Given the description of an element on the screen output the (x, y) to click on. 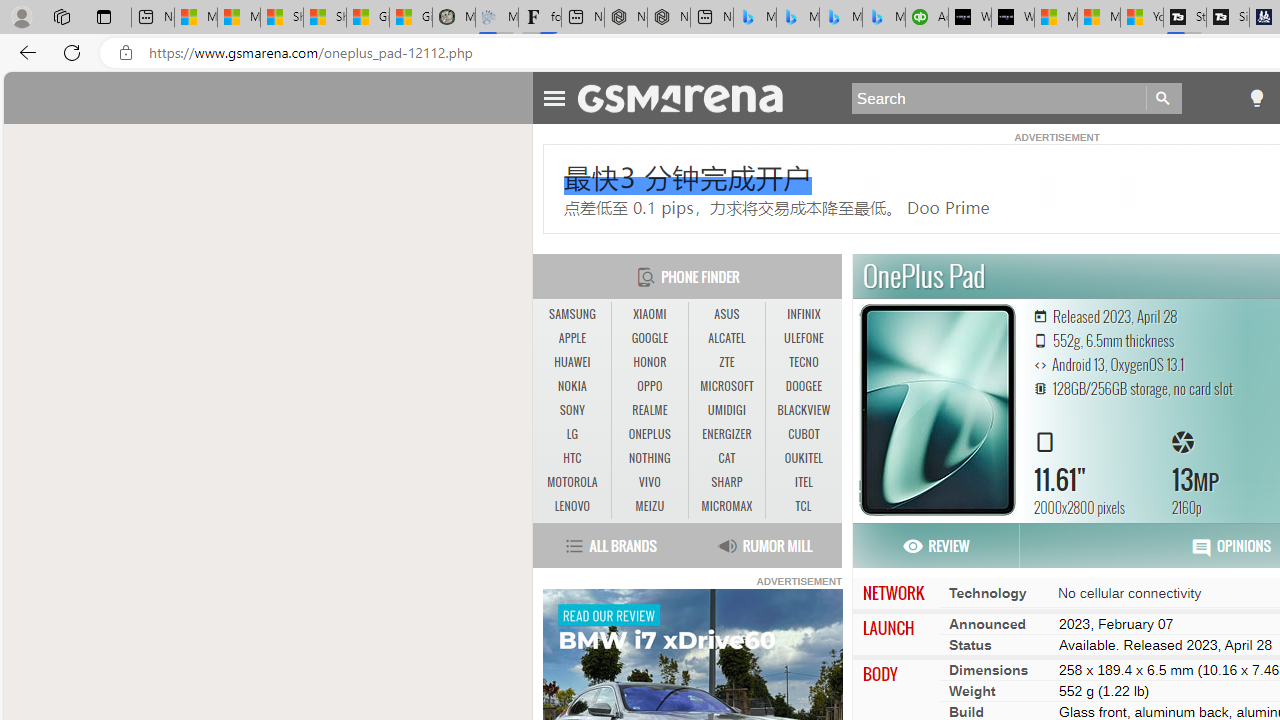
SONY (571, 411)
OnePlus Pad MORE PICTURES (934, 410)
ZTE (726, 362)
SAMSUNG (571, 314)
INFINIX (803, 314)
HONOR (649, 362)
CAT (726, 458)
OUKITEL (803, 457)
Accounting Software for Accountants, CPAs and Bookkeepers (927, 17)
Microsoft Bing Travel - Shangri-La Hotel Bangkok (883, 17)
NOKIA (571, 385)
MICROSOFT (726, 385)
Microsoft Start Sports (1055, 17)
TCL (802, 506)
